Given the description of an element on the screen output the (x, y) to click on. 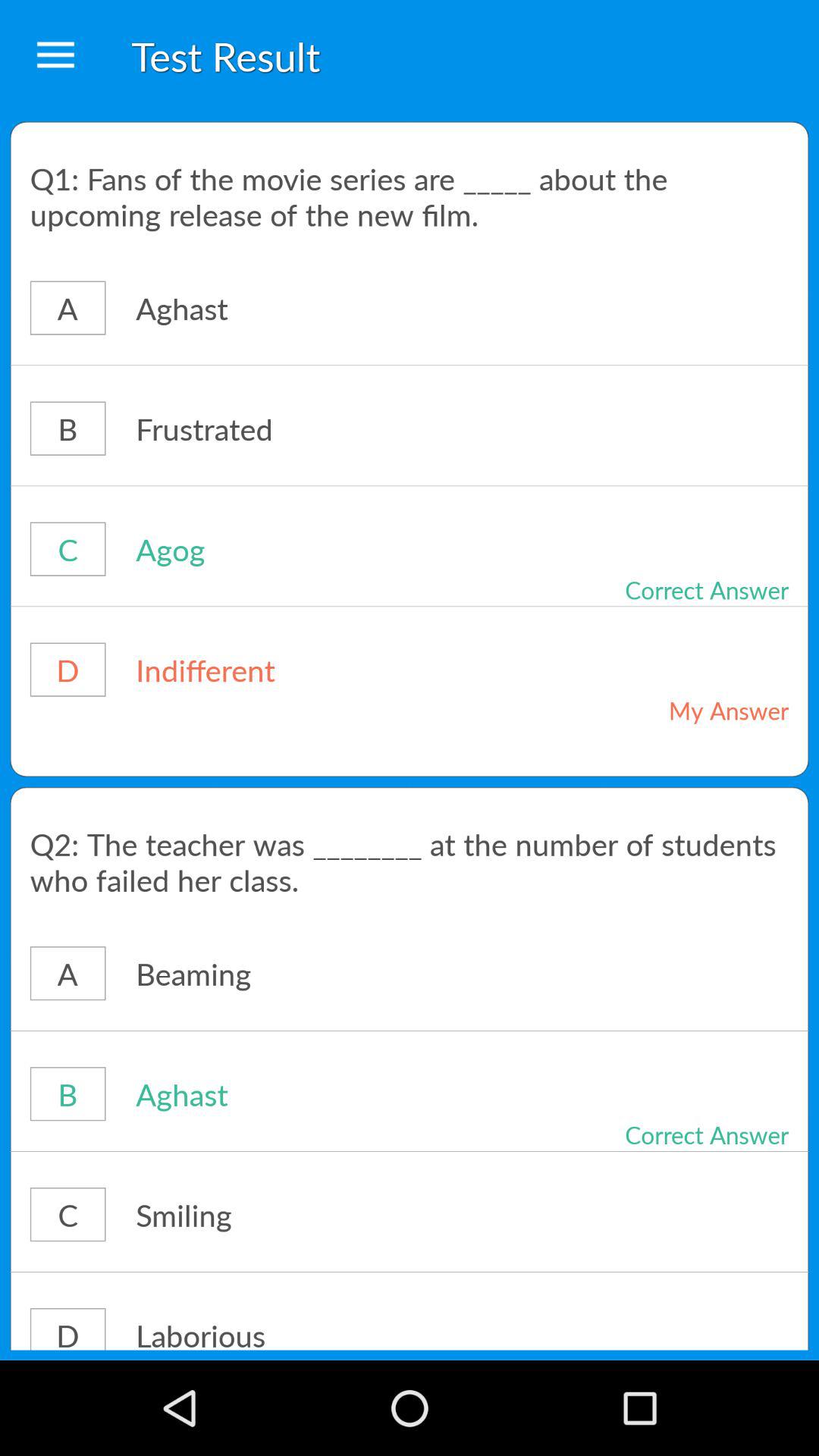
select the item above a (409, 195)
